Given the description of an element on the screen output the (x, y) to click on. 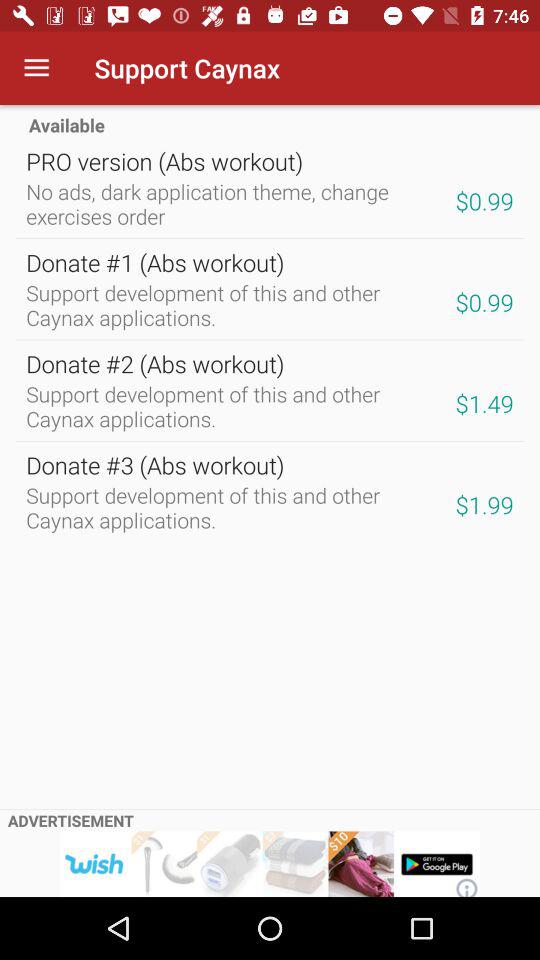
opens an advertisement (270, 864)
